Given the description of an element on the screen output the (x, y) to click on. 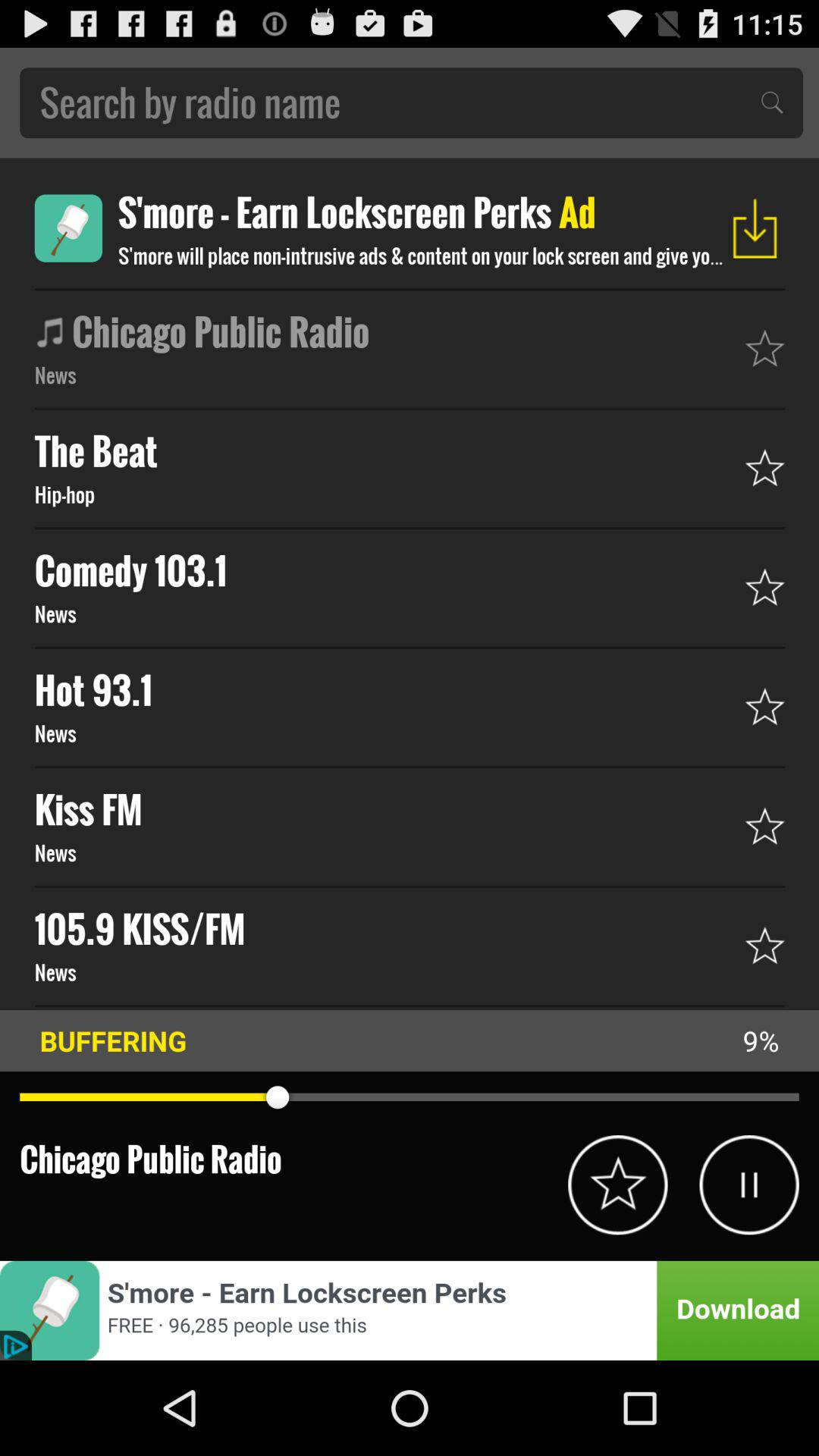
button to download an app that shows advertisements (68, 228)
